Given the description of an element on the screen output the (x, y) to click on. 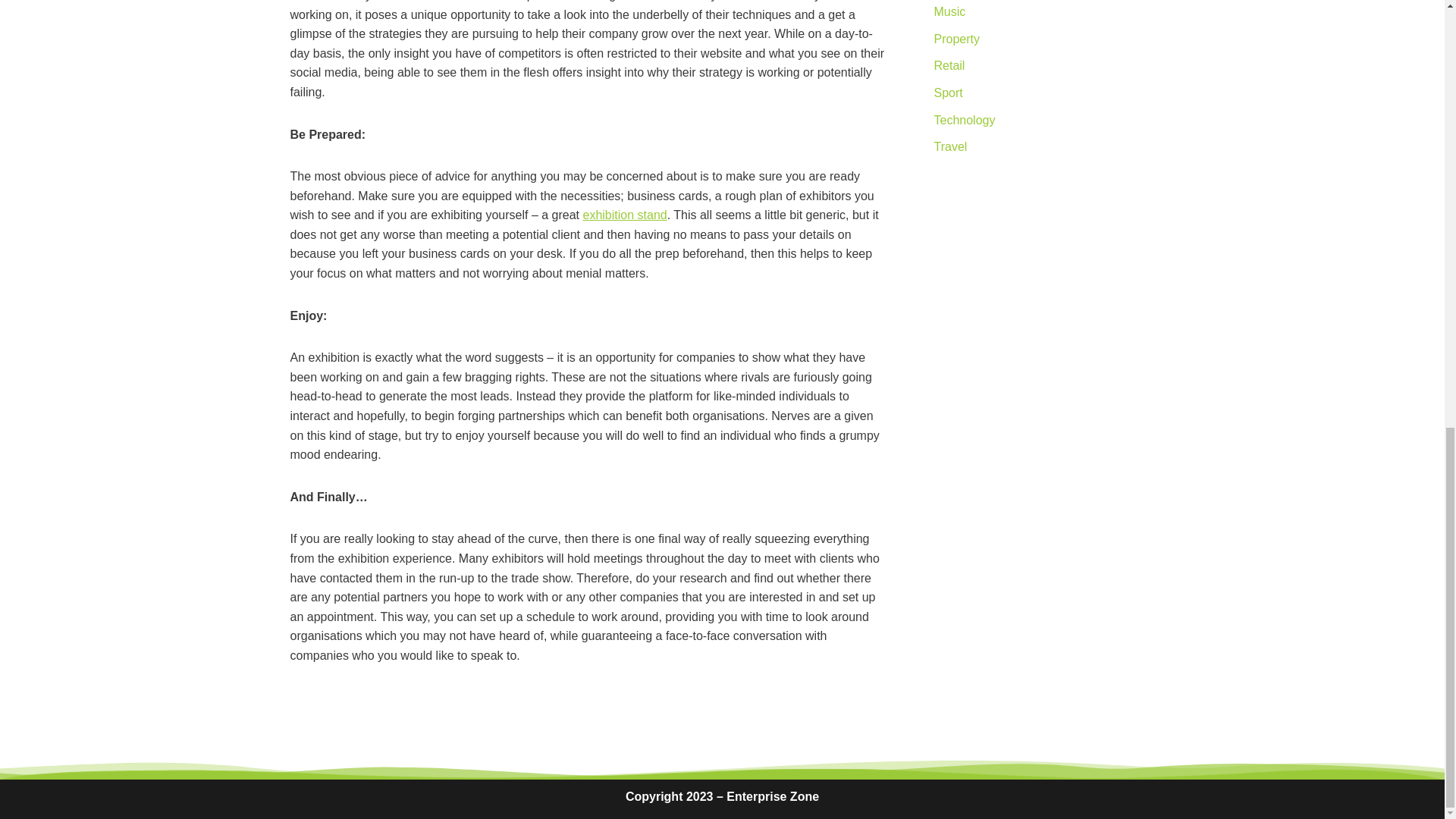
exhibition stand (624, 214)
